Given the description of an element on the screen output the (x, y) to click on. 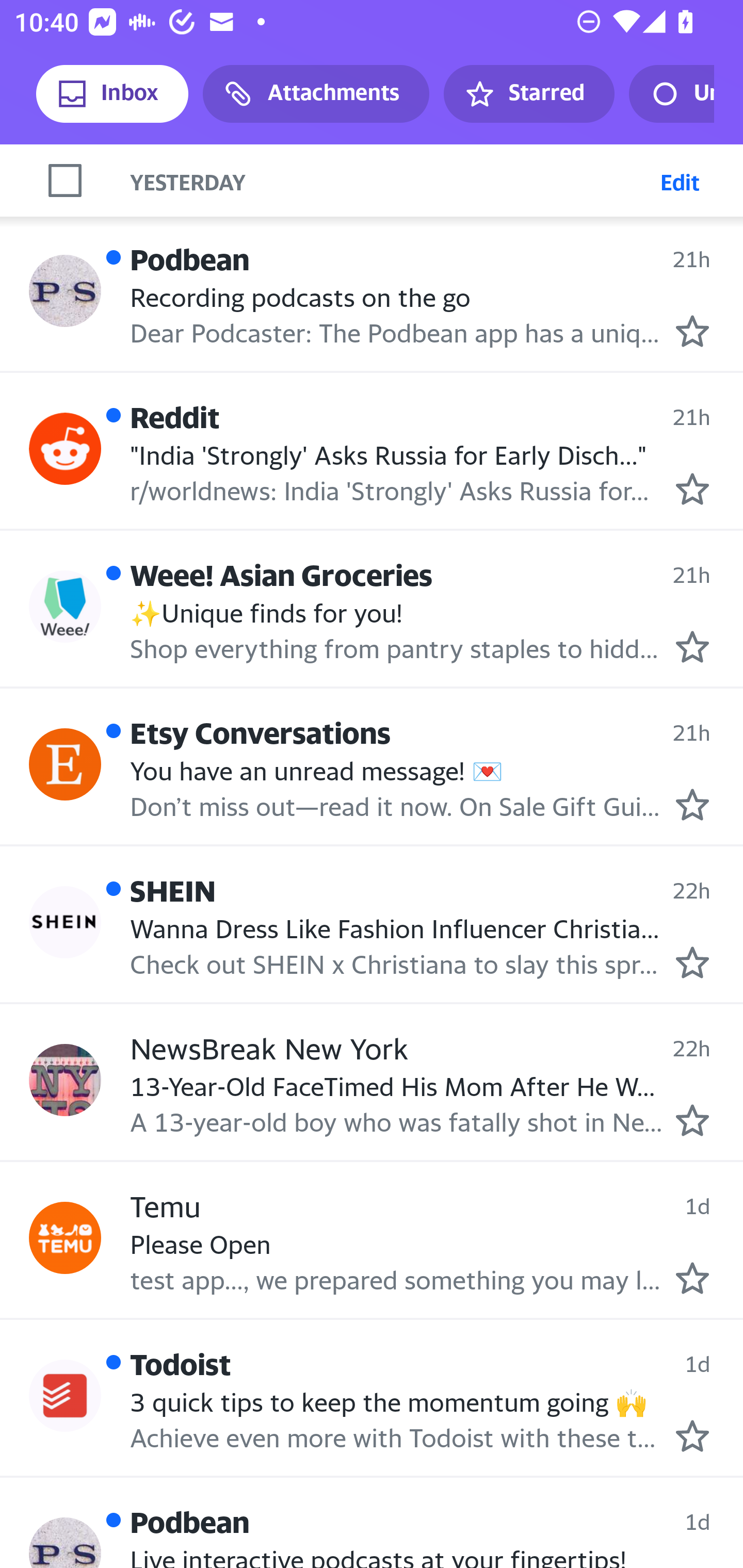
Attachments (315, 93)
Starred (528, 93)
Profile
Podbean (64, 290)
Mark as starred. (692, 331)
Profile
Reddit (64, 448)
Mark as starred. (692, 488)
Profile
Weee! Asian Groceries (64, 606)
Mark as starred. (692, 646)
Profile
Etsy Conversations (64, 764)
Mark as starred. (692, 805)
Profile
SHEIN (64, 921)
Mark as starred. (692, 961)
Profile
NewsBreak New York (64, 1080)
Mark as starred. (692, 1120)
Profile
Temu (64, 1237)
Mark as starred. (692, 1278)
Profile
Todoist (64, 1395)
Mark as starred. (692, 1435)
